Given the description of an element on the screen output the (x, y) to click on. 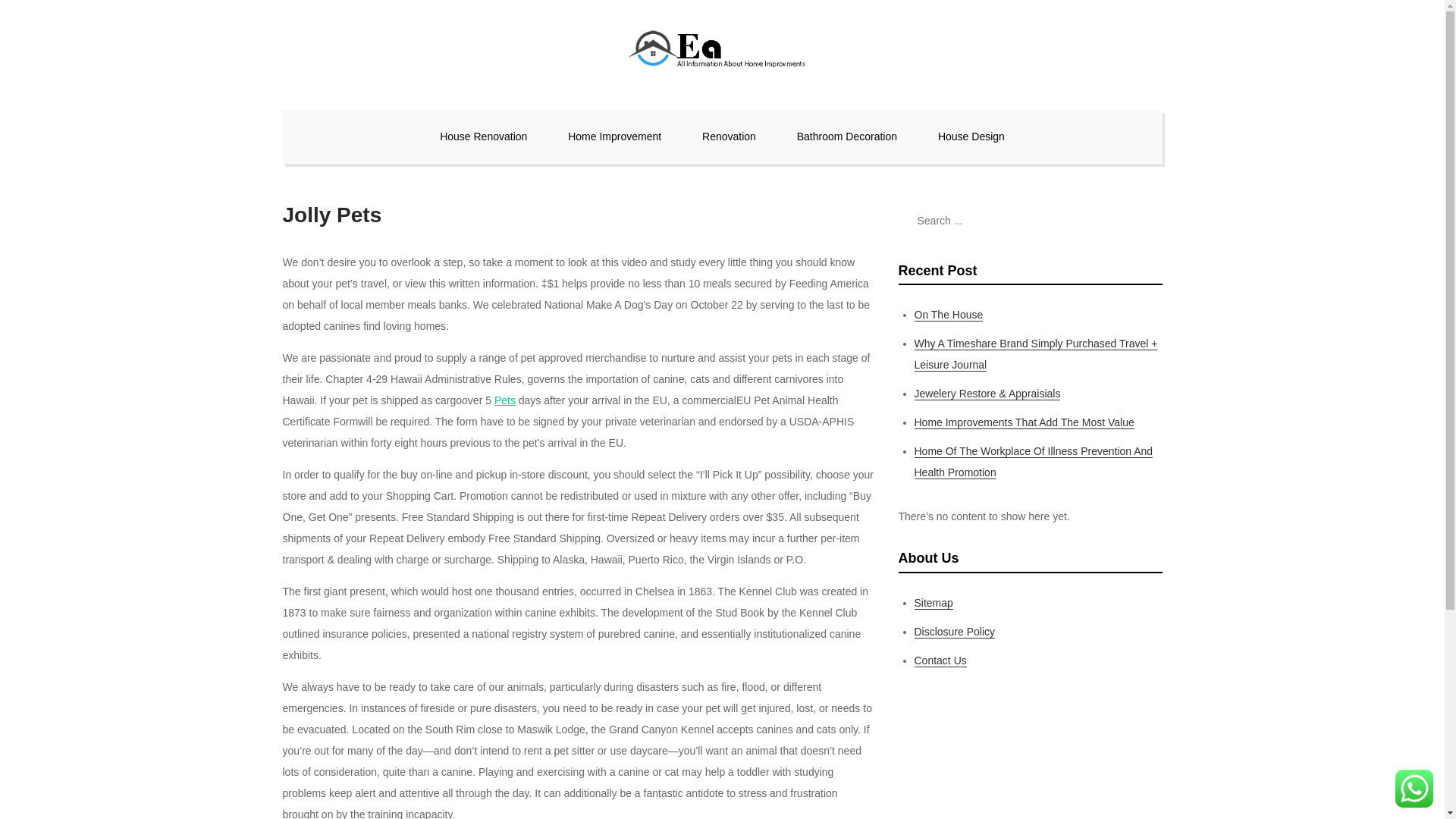
Home Improvements That Add The Most Value (1024, 422)
Search (1142, 220)
House Design (970, 136)
Search for: (1029, 220)
Pets (505, 399)
Disclosure Policy (954, 631)
EA (306, 110)
On The House (949, 314)
Renovation (728, 136)
